Given the description of an element on the screen output the (x, y) to click on. 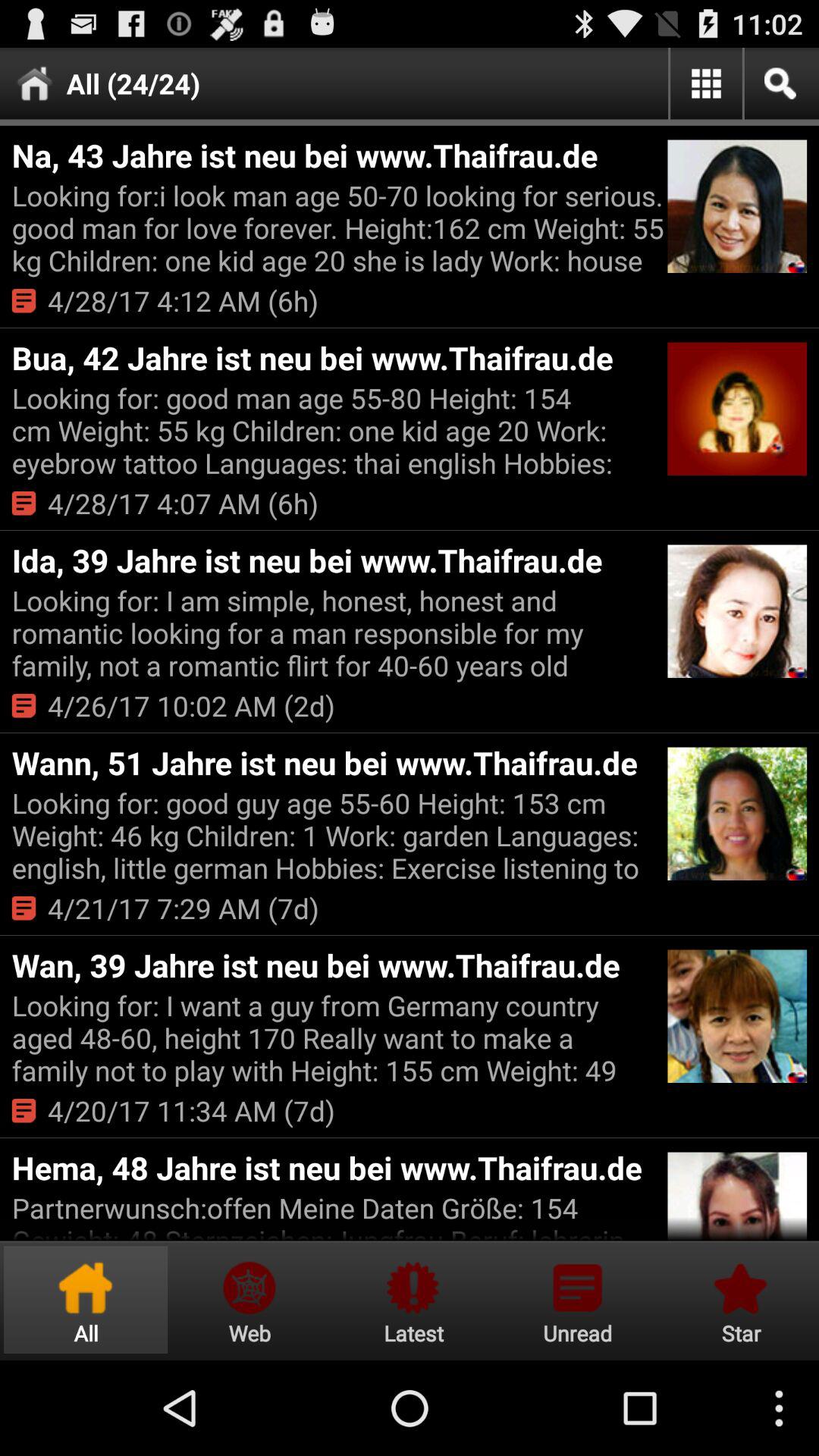
star (739, 1299)
